Given the description of an element on the screen output the (x, y) to click on. 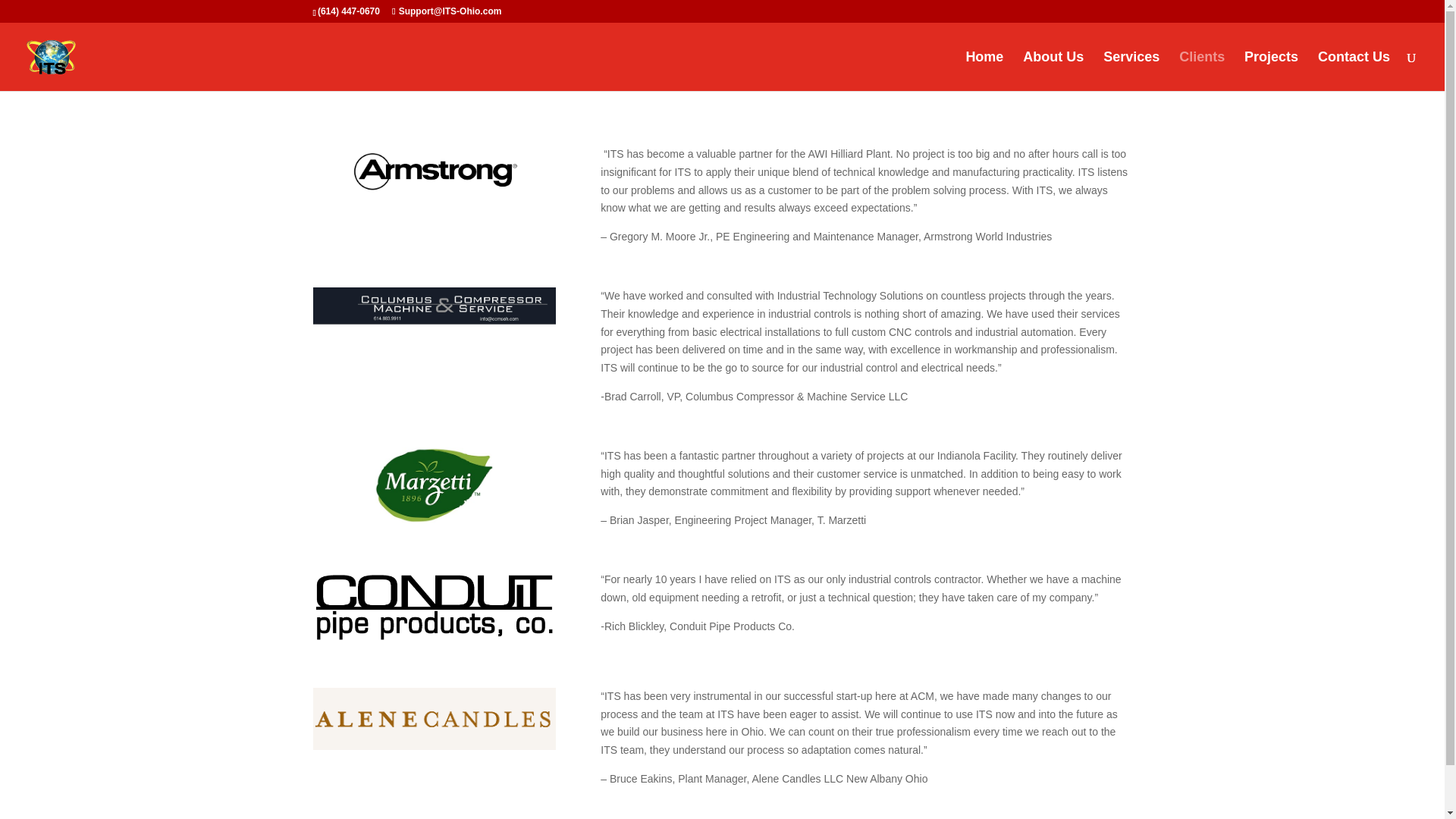
Clients (1201, 70)
About Us (1053, 70)
MarzettiBrandmark-01 (433, 485)
Contact Us (1353, 70)
Home (984, 70)
Services (1130, 70)
Projects (1271, 70)
